Given the description of an element on the screen output the (x, y) to click on. 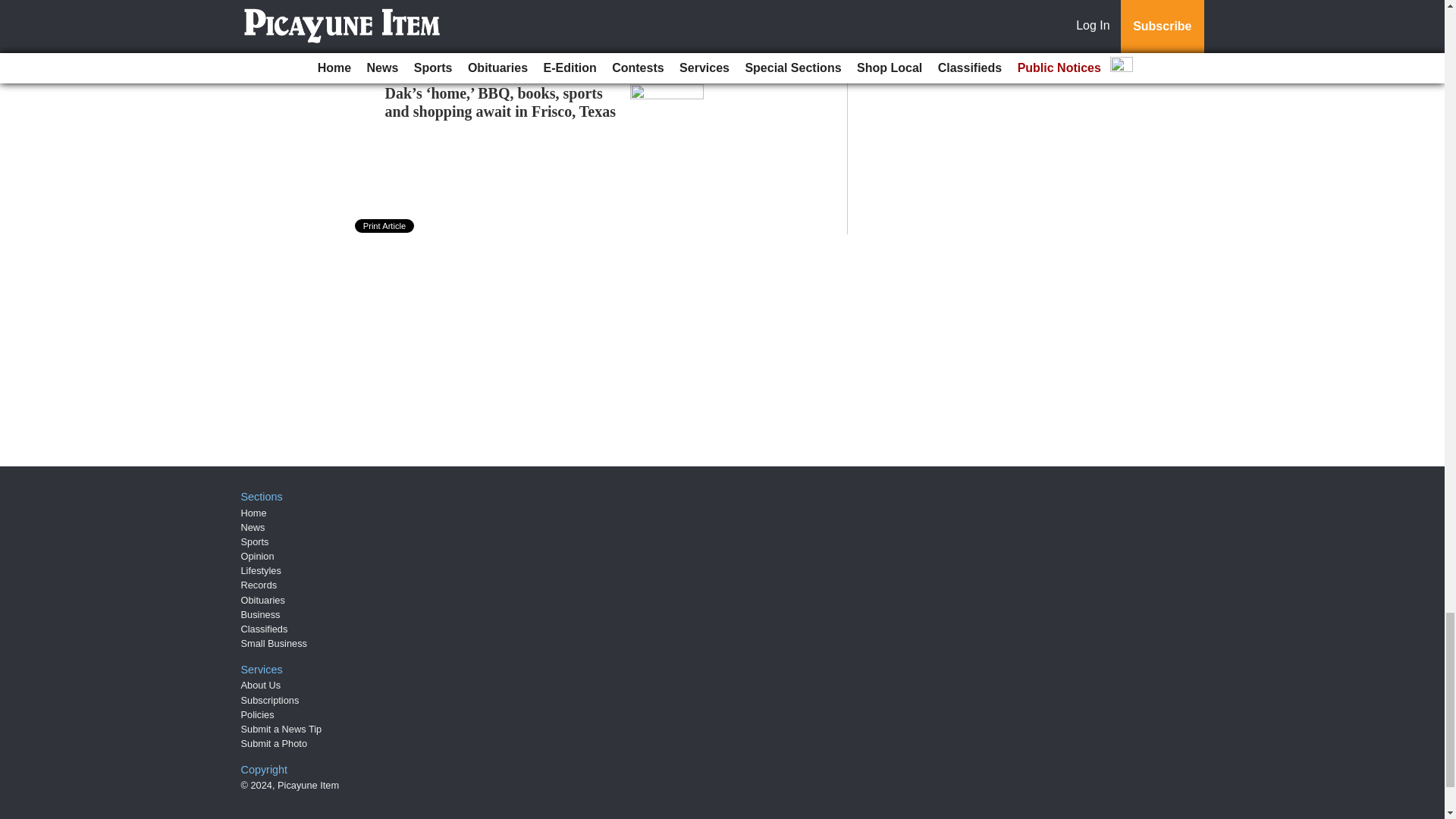
Print Article (384, 225)
